Given the description of an element on the screen output the (x, y) to click on. 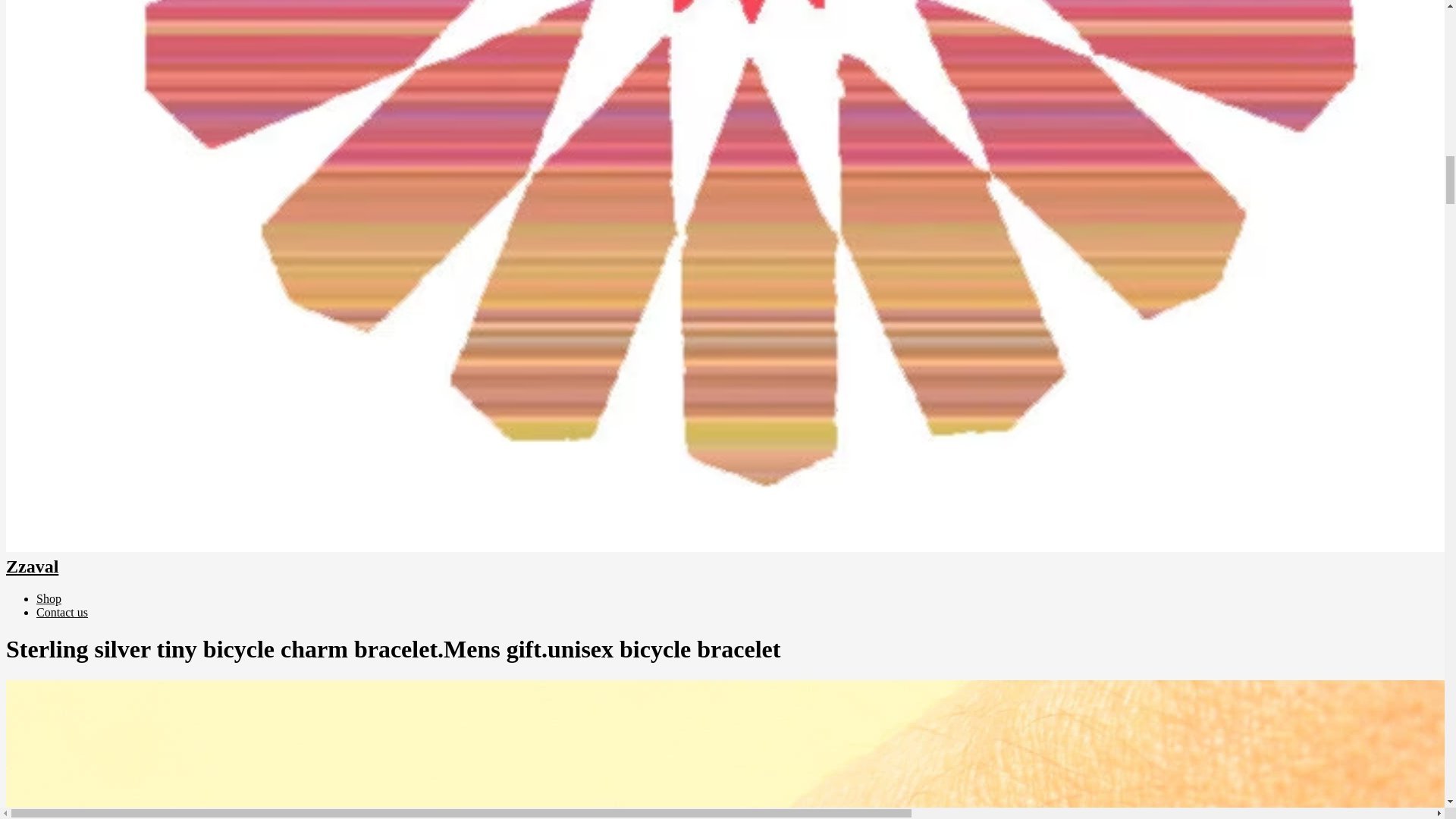
Contact us (61, 612)
Shop (48, 598)
